Given the description of an element on the screen output the (x, y) to click on. 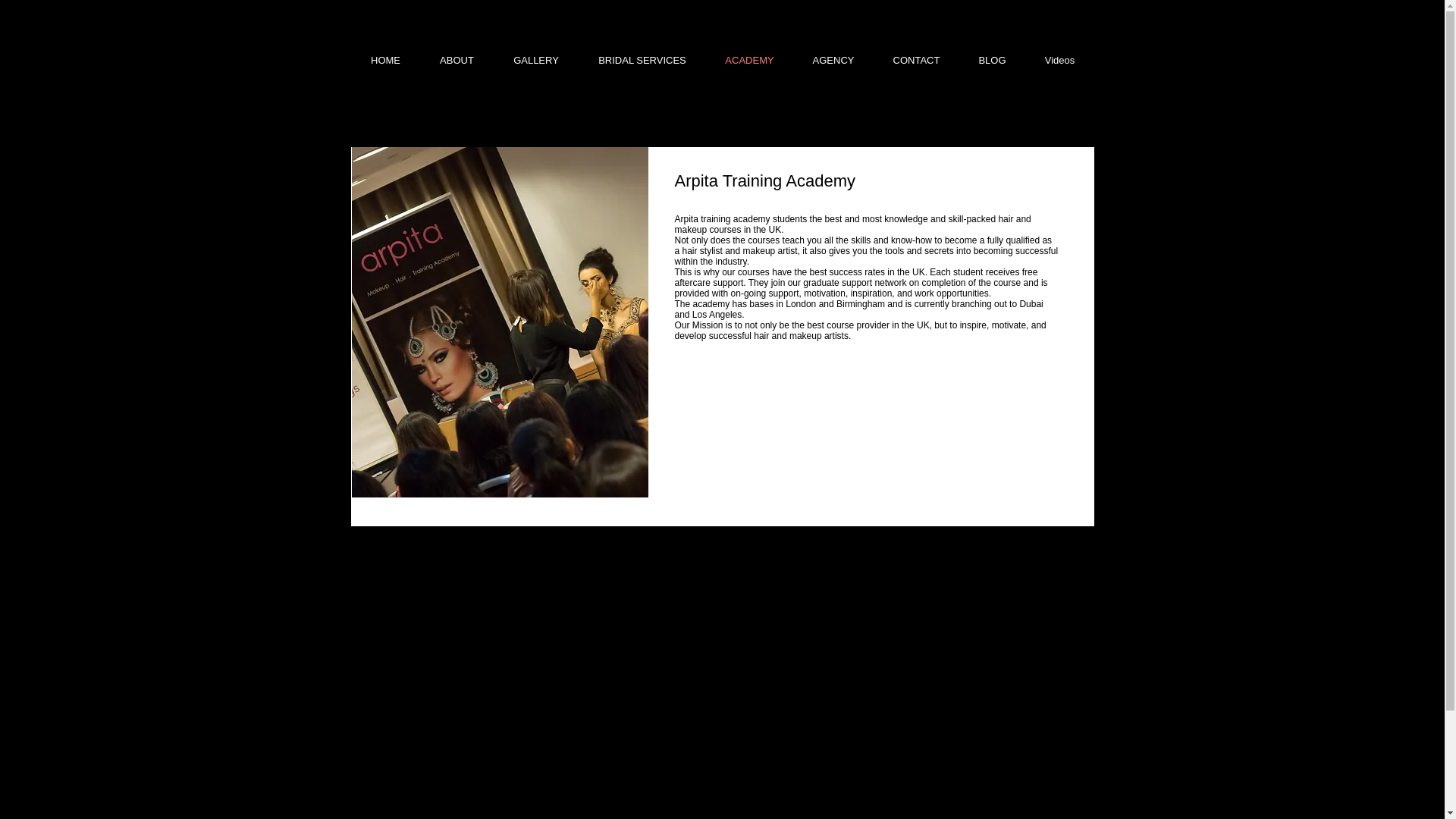
Videos (1059, 60)
AGENCY (832, 60)
ABOUT (456, 60)
ACADEMY (749, 60)
CONTACT (915, 60)
BLOG (992, 60)
BRIDAL SERVICES (642, 60)
GALLERY (536, 60)
HOME (386, 60)
